Given the description of an element on the screen output the (x, y) to click on. 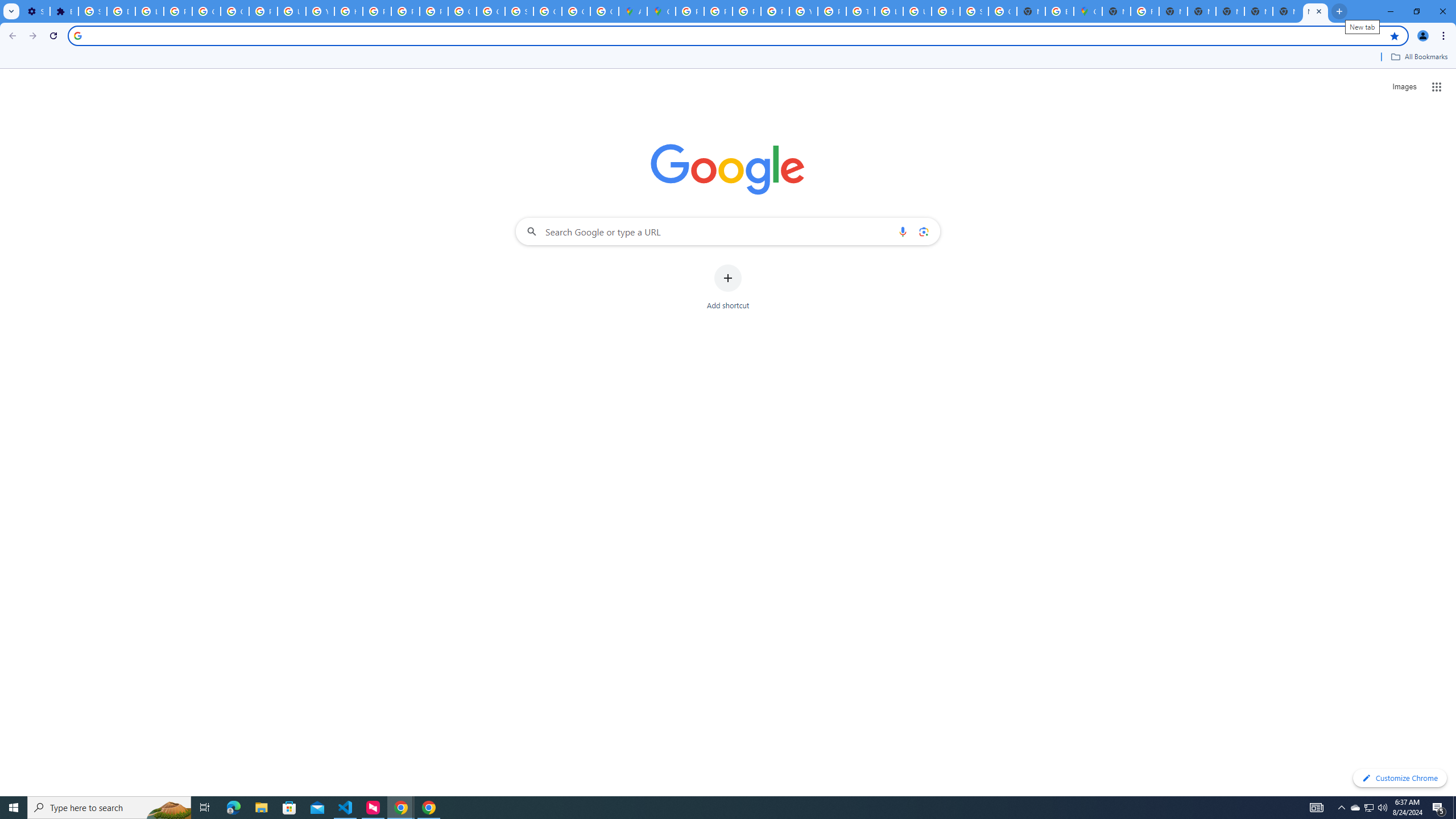
Sign in - Google Accounts (518, 11)
Search Google or type a URL (727, 230)
Google Maps (1088, 11)
Explore new street-level details - Google Maps Help (1058, 11)
Sign in - Google Accounts (973, 11)
YouTube (803, 11)
Policy Accountability and Transparency - Transparency Center (690, 11)
